Given the description of an element on the screen output the (x, y) to click on. 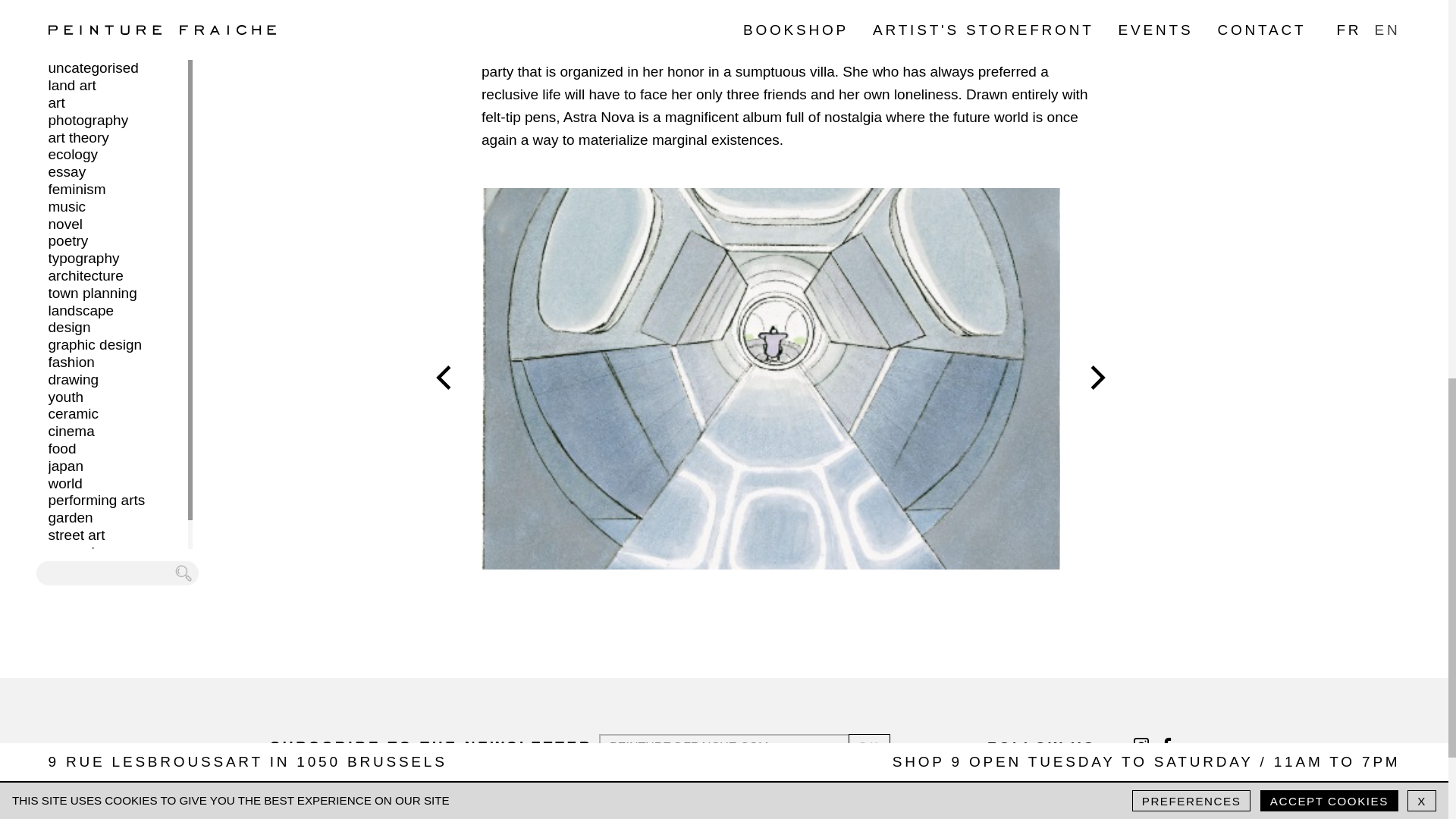
OK (869, 747)
